Given the description of an element on the screen output the (x, y) to click on. 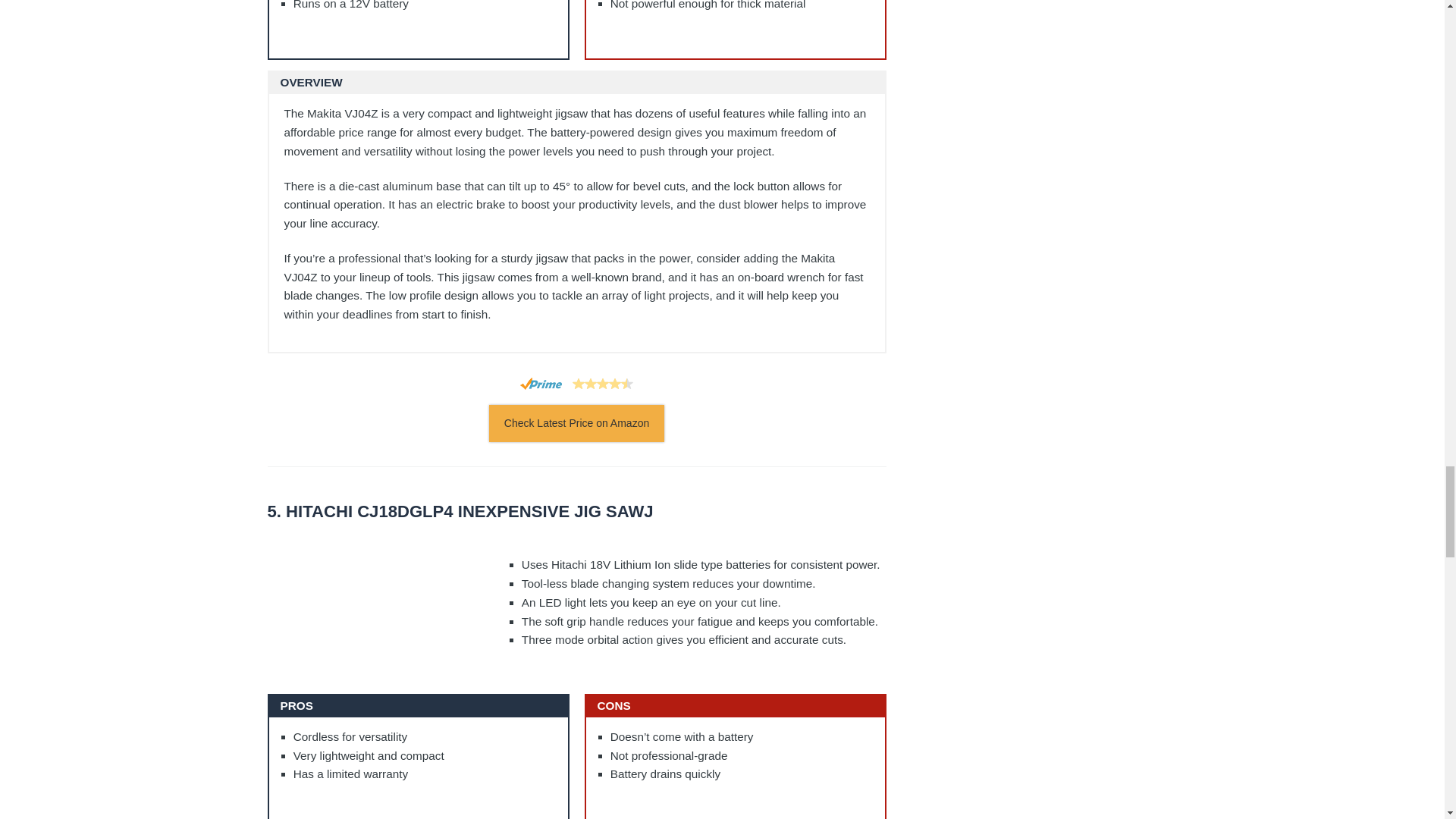
Hitachi CJ18DGLP4 Inexpensive Jig SawJ (575, 512)
Check Latest Price on Amazon (576, 423)
Check Latest Price on Amazon (576, 423)
